Given the description of an element on the screen output the (x, y) to click on. 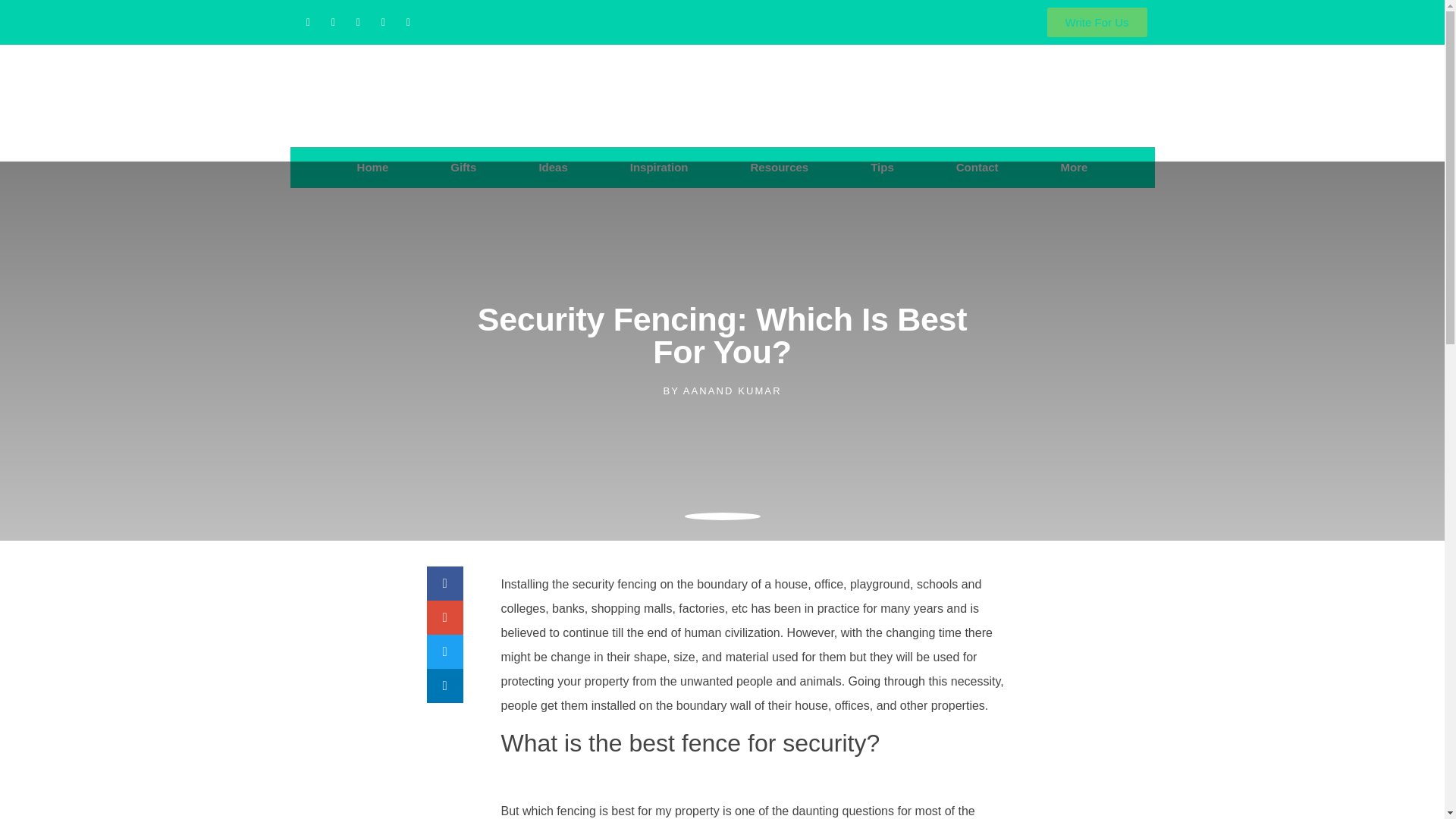
Tips (882, 167)
BY AANAND KUMAR (721, 391)
More (1074, 167)
Ideas (552, 167)
Inspiration (658, 167)
Write For Us (1096, 21)
Resources (779, 167)
Contact (976, 167)
Gifts (462, 167)
Home (373, 167)
